Given the description of an element on the screen output the (x, y) to click on. 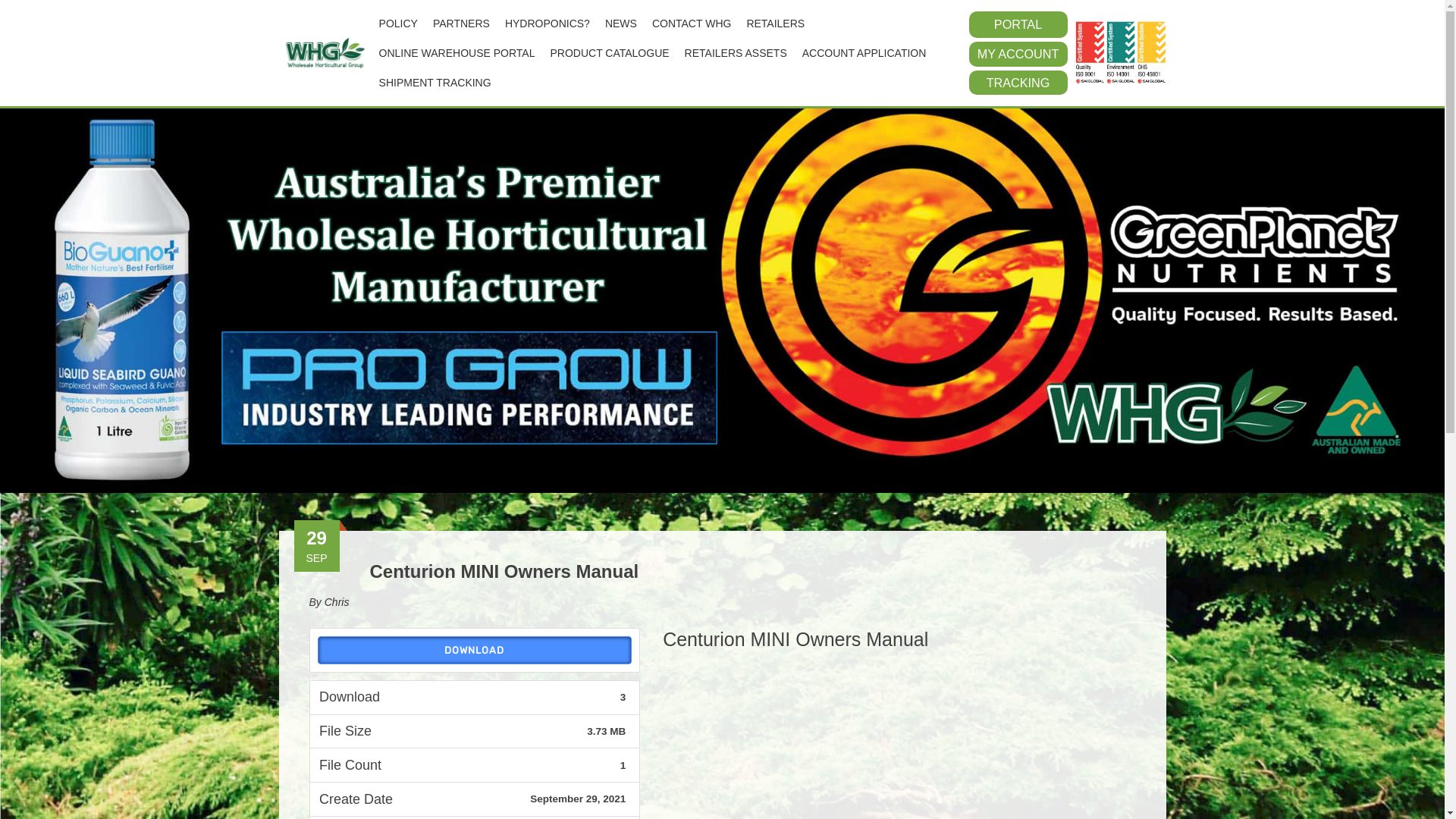
ISO Certified Element type: hover (1120, 52)
PRODUCT CATALOGUE Element type: text (609, 53)
NEWS Element type: text (620, 23)
HYDROPONICS? Element type: text (547, 23)
RETAILERS Element type: text (775, 23)
DOWNLOAD Element type: text (473, 650)
TRACKING Element type: text (1018, 82)
ACCOUNT APPLICATION Element type: text (864, 53)
POLICY Element type: text (398, 23)
SHIPMENT TRACKING Element type: text (434, 82)
RETAILERS ASSETS Element type: text (735, 53)
CONTACT WHG Element type: text (691, 23)
PARTNERS Element type: text (461, 23)
MY ACCOUNT Element type: text (1018, 53)
Search Element type: text (42, 17)
ONLINE WAREHOUSE PORTAL Element type: text (456, 53)
Chris Element type: text (336, 602)
PORTAL Element type: text (1018, 24)
